Given the description of an element on the screen output the (x, y) to click on. 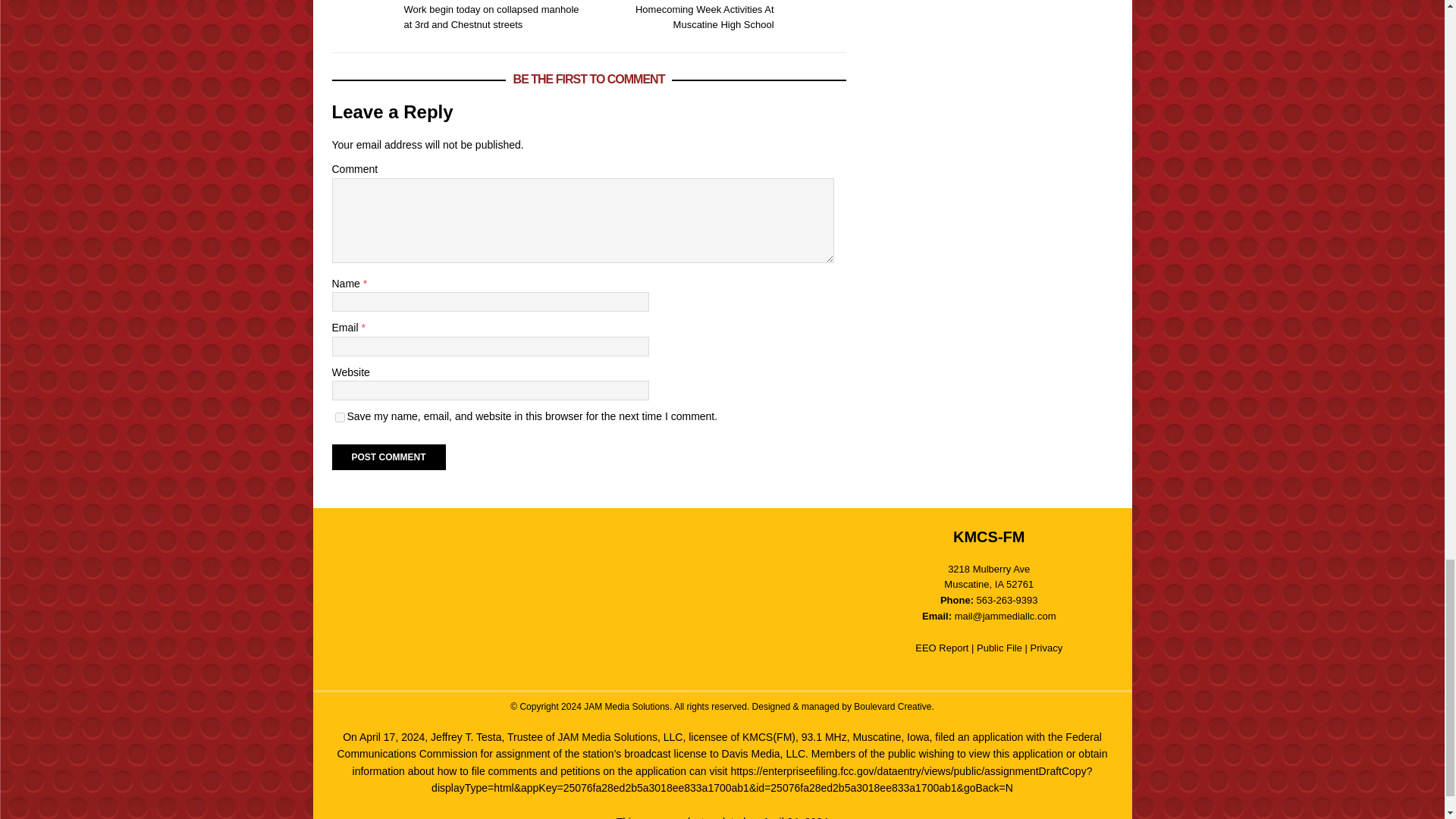
Post Comment (720, 16)
Post Comment (388, 457)
yes (388, 457)
